Given the description of an element on the screen output the (x, y) to click on. 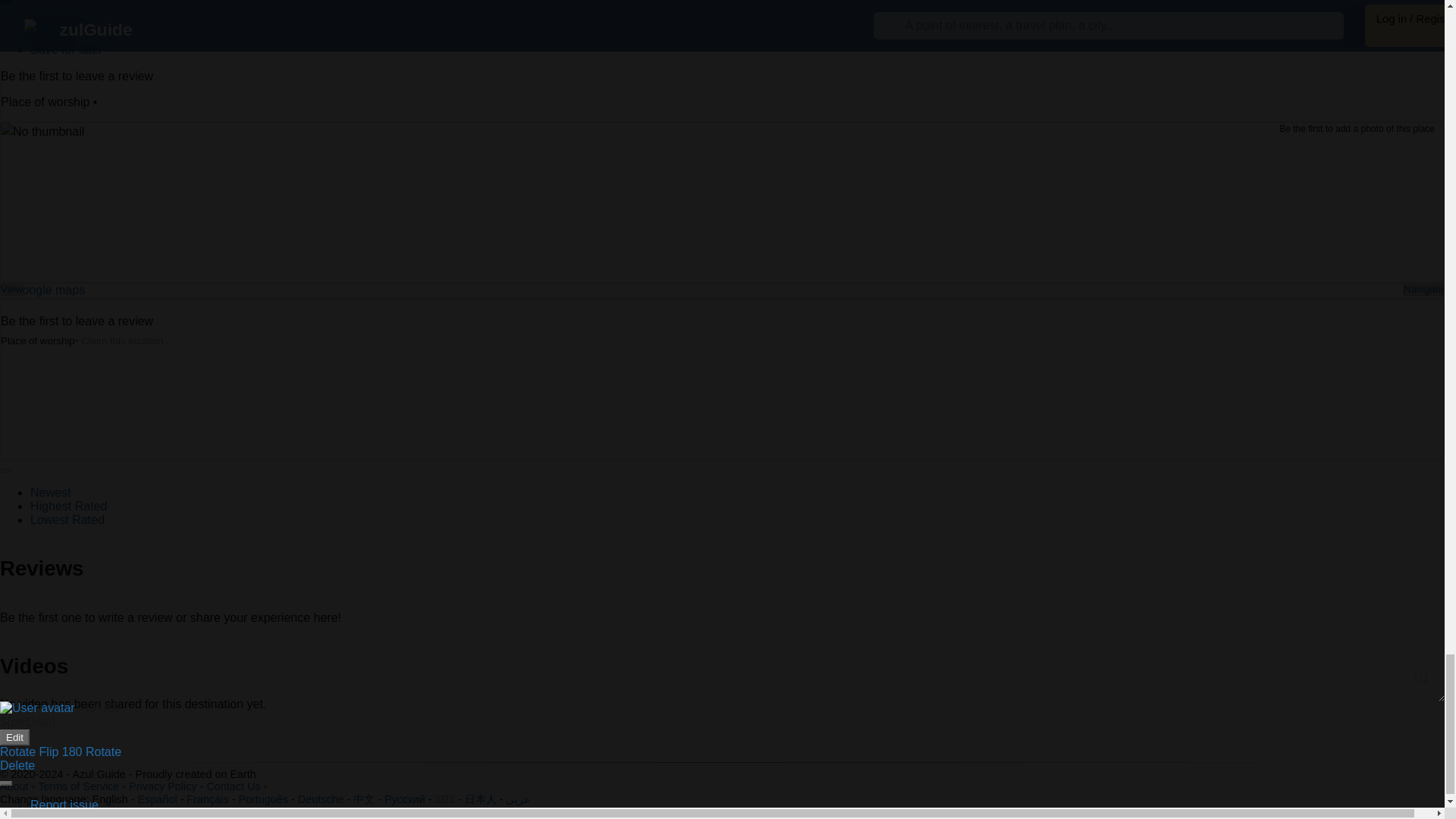
Hindi (443, 799)
Spanish (157, 799)
French (207, 799)
Chinese (363, 799)
Arabic (517, 799)
Japanese (480, 799)
German (320, 799)
Russian (404, 799)
Portuguese (263, 799)
